Given the description of an element on the screen output the (x, y) to click on. 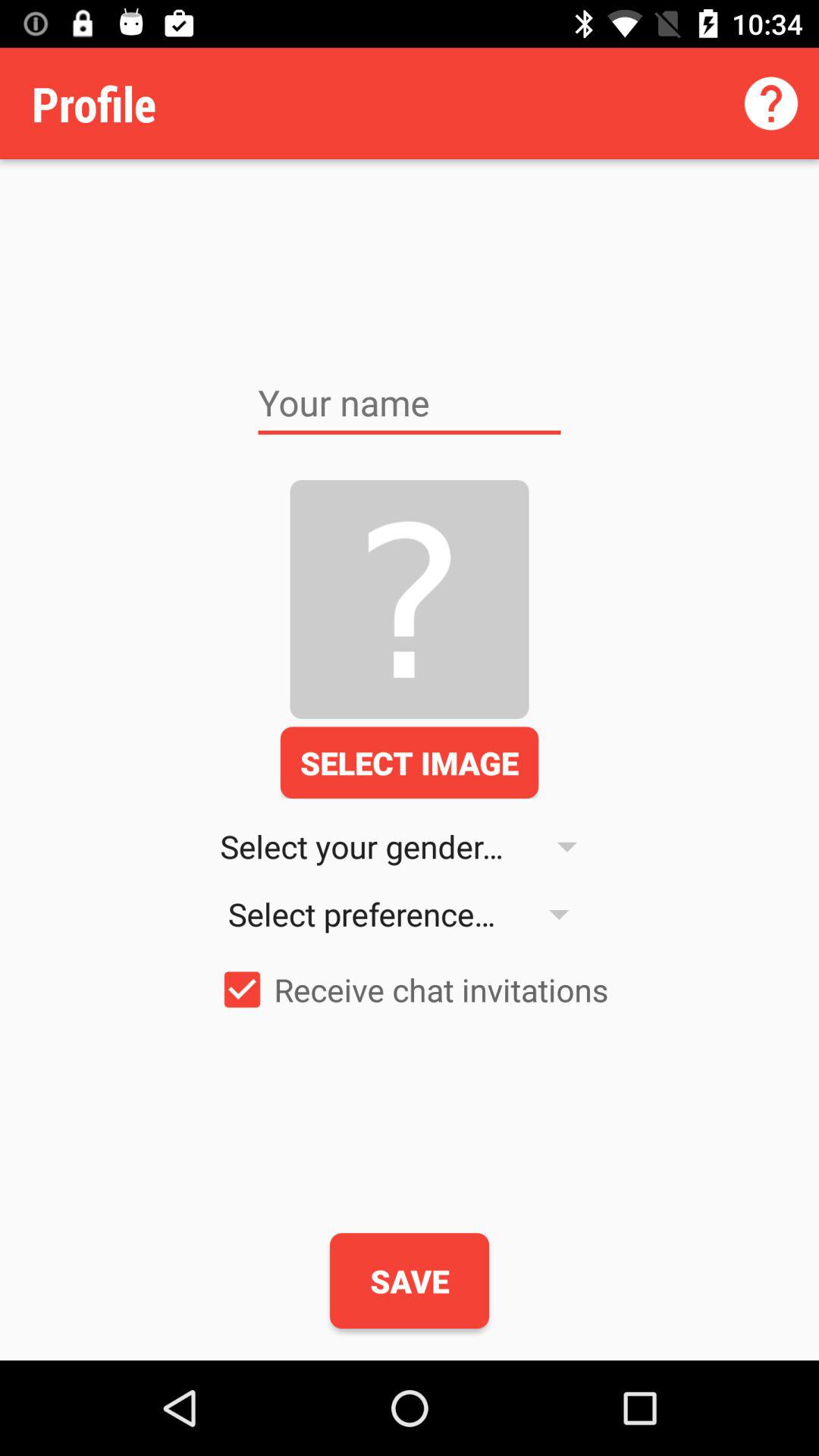
enter you name (409, 403)
